Given the description of an element on the screen output the (x, y) to click on. 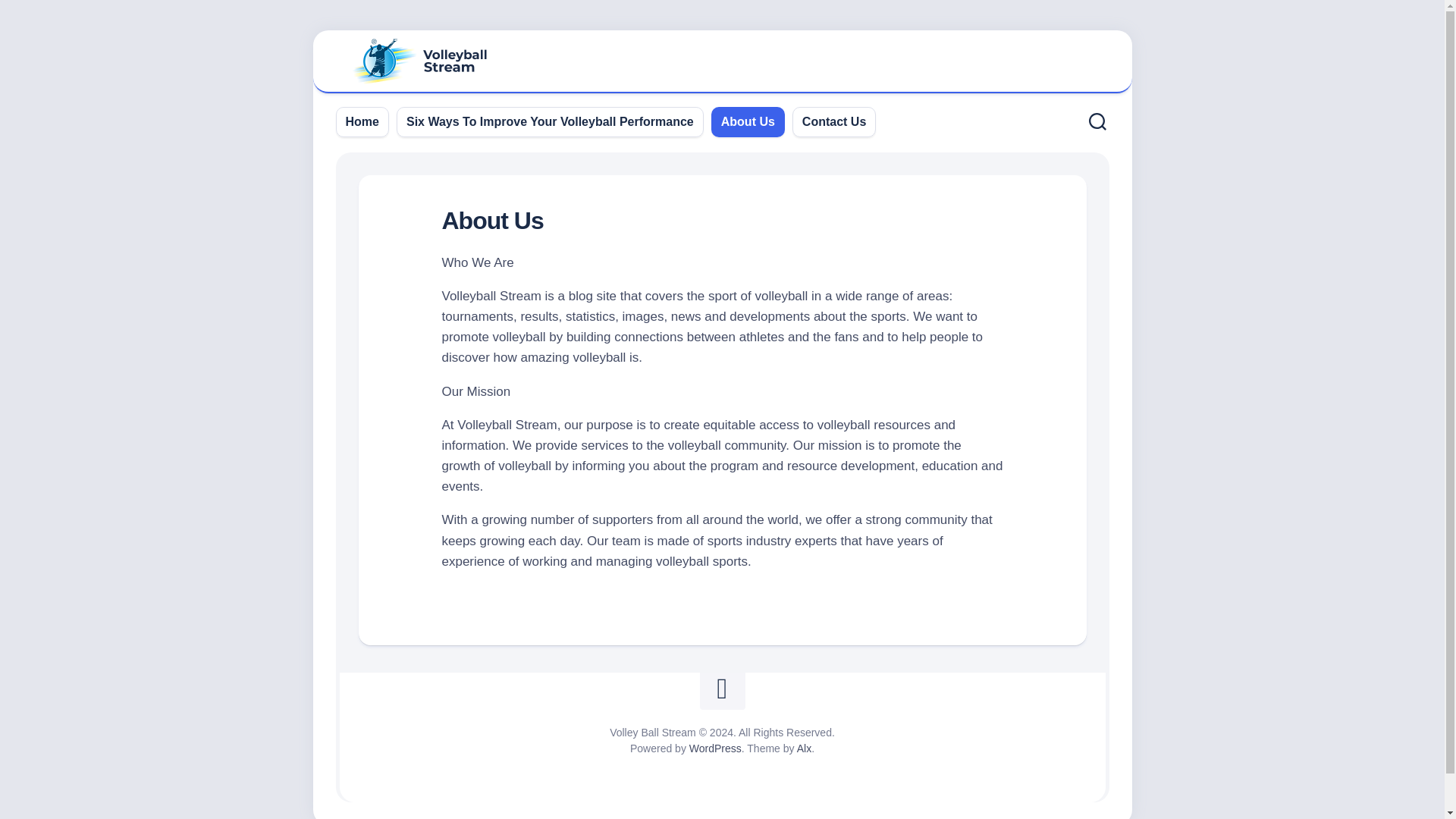
Contact Us (834, 121)
Six Ways To Improve Your Volleyball Performance (550, 121)
About Us (747, 121)
Home (362, 121)
Alx (803, 748)
WordPress (714, 748)
